Given the description of an element on the screen output the (x, y) to click on. 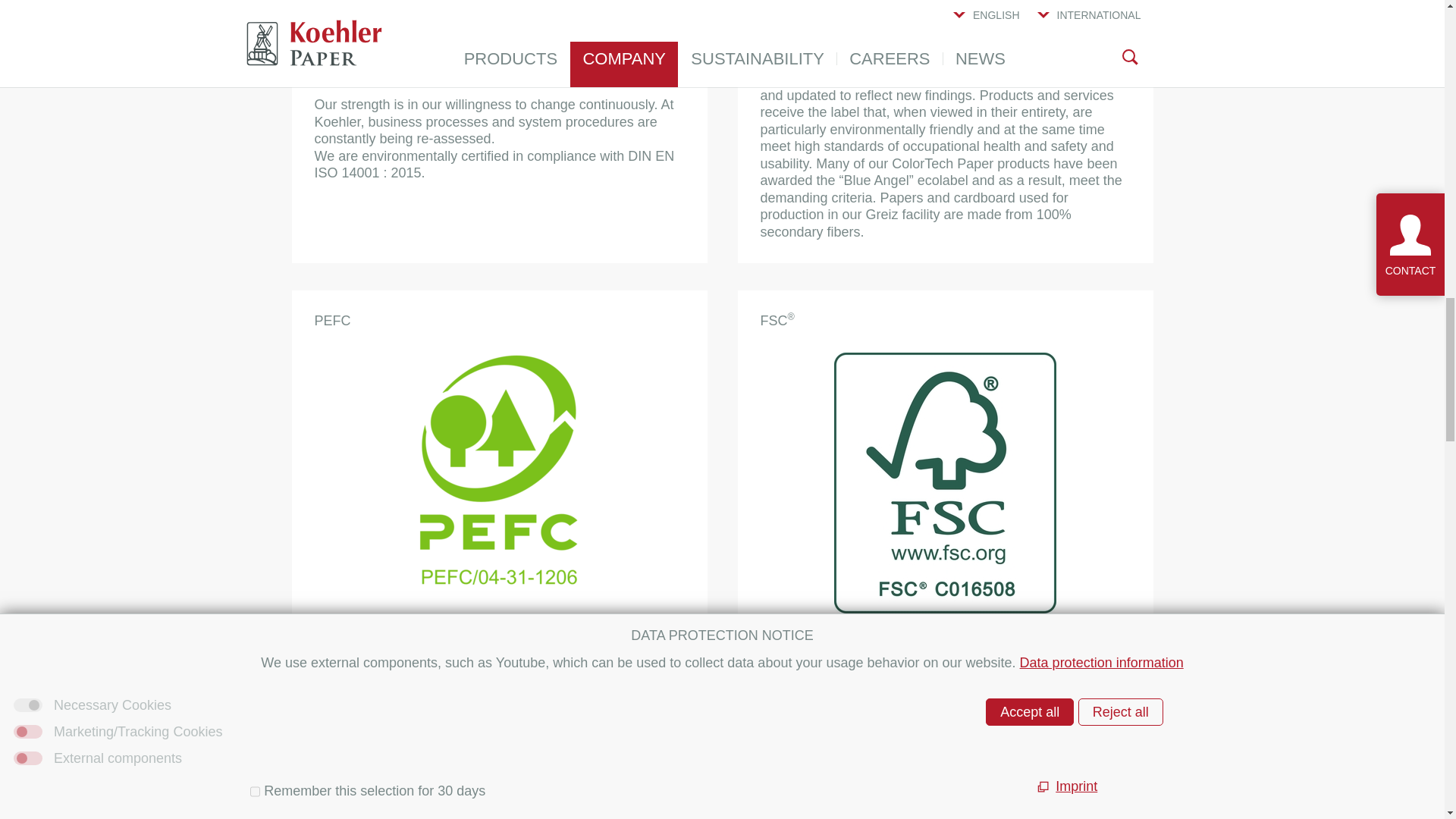
Umwelt Zertifizierung (498, 34)
"Blue Angle" (943, 4)
